Given the description of an element on the screen output the (x, y) to click on. 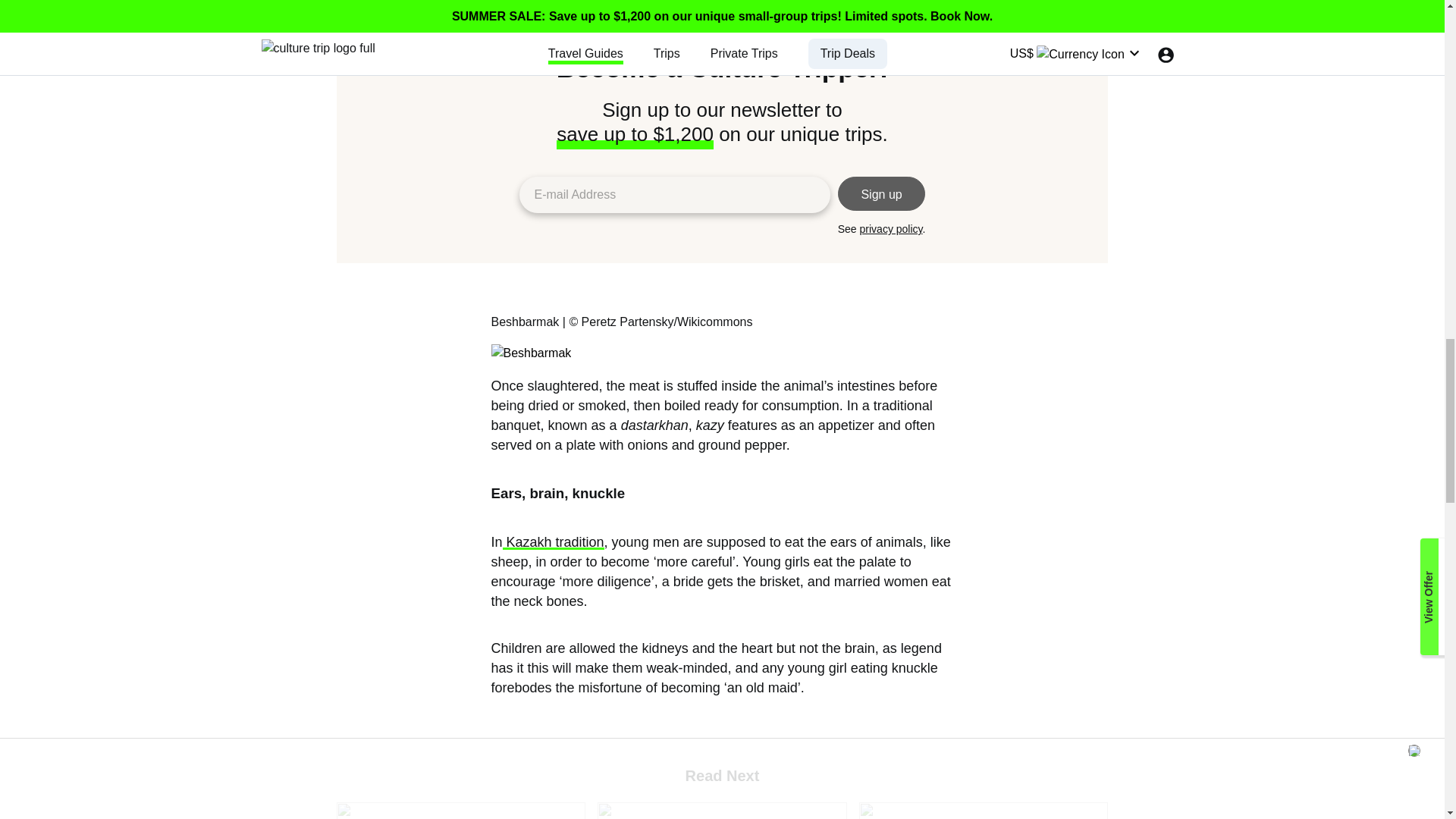
privacy policy (720, 810)
Kazakh tradition (891, 228)
Sign up (553, 541)
